Given the description of an element on the screen output the (x, y) to click on. 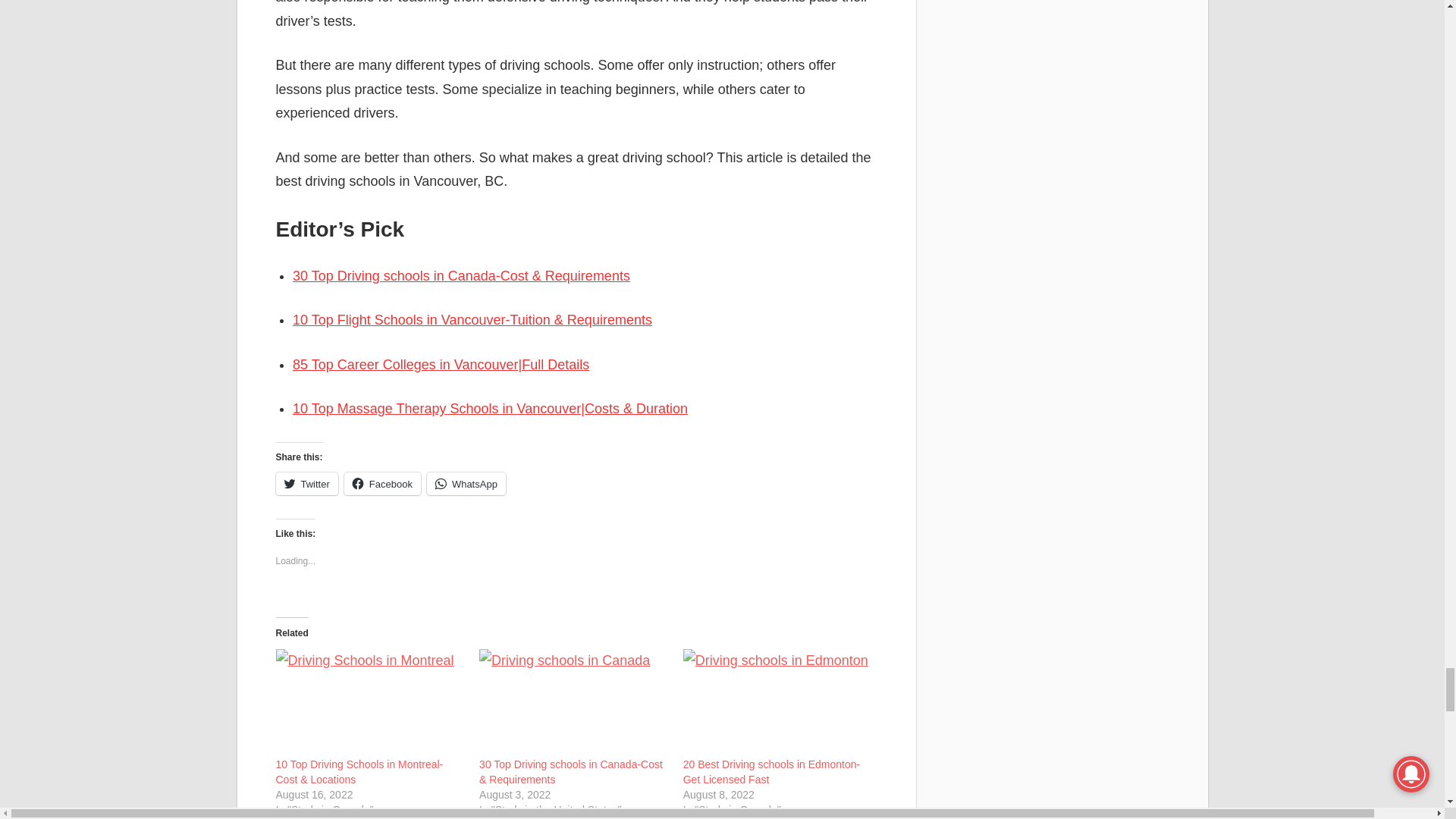
20 Best Driving schools in Edmonton-Get Licensed Fast (771, 771)
Click to share on Twitter (306, 483)
Click to share on WhatsApp (465, 483)
20 Best Driving schools in Edmonton-Get Licensed Fast (777, 702)
Click to share on Facebook (381, 483)
